Given the description of an element on the screen output the (x, y) to click on. 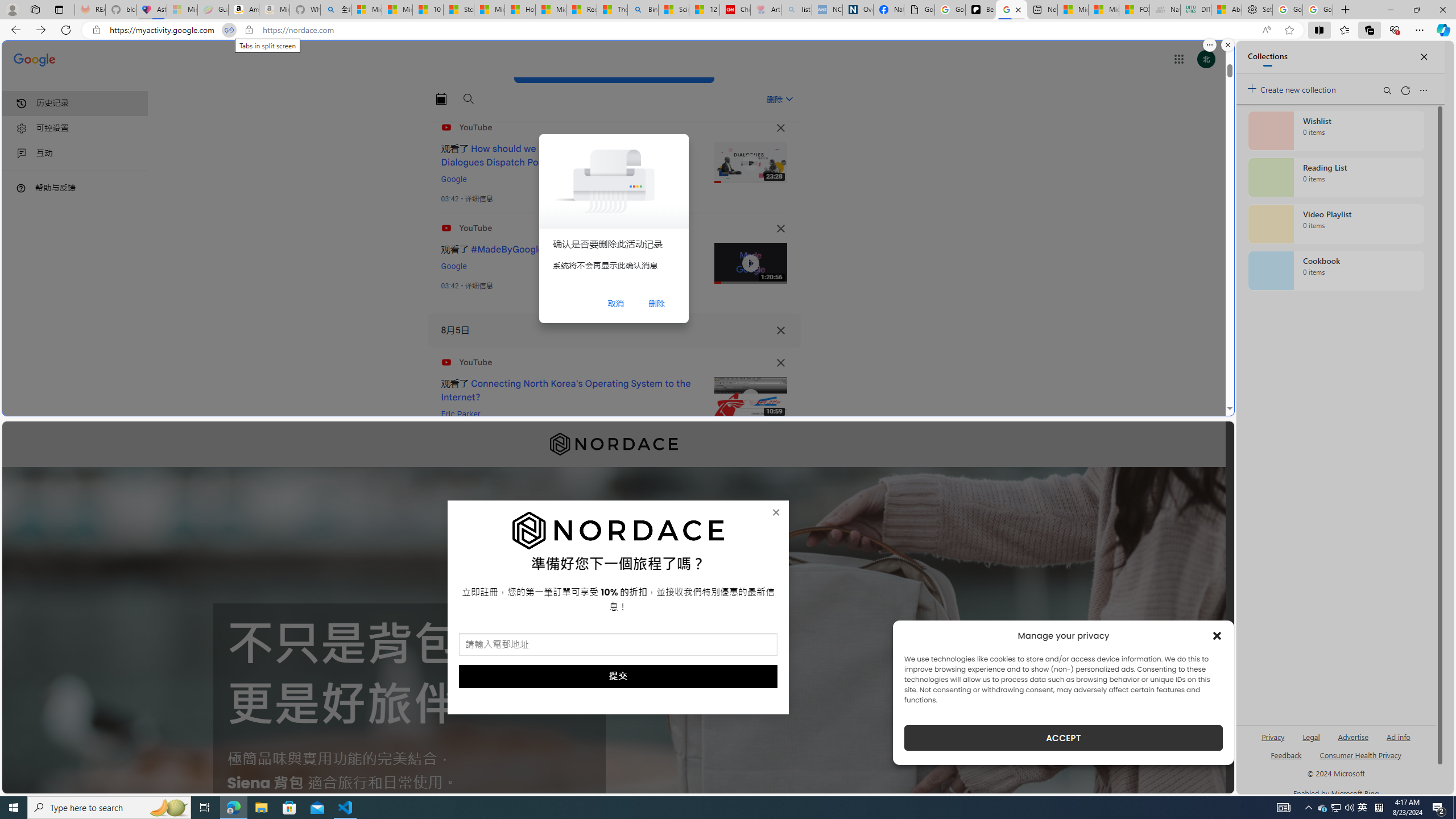
Class: cmplz-close (1217, 635)
